Given the description of an element on the screen output the (x, y) to click on. 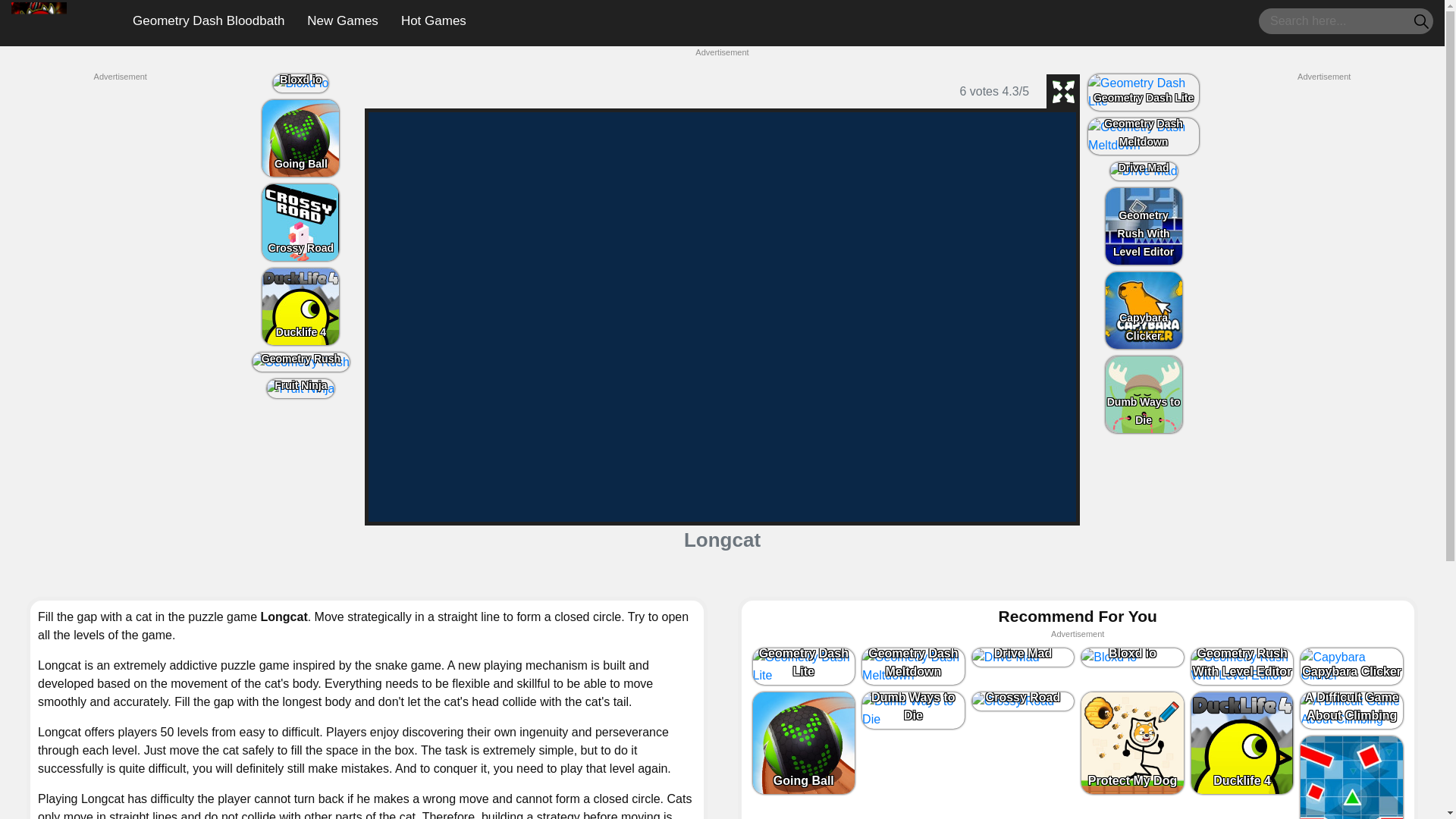
Geometry Rush With Level Editor (1242, 665)
Capybara Clicker (1351, 665)
Crossy Road (300, 222)
Geometry Dash Meltdown (1143, 135)
New Games (342, 20)
Geometry Dash Meltdown (913, 665)
Fruit Ninja (300, 388)
Dumb Ways to Die (1144, 394)
Bloxd io (1132, 656)
Going Ball (300, 137)
Geometry Dash Lite (1142, 92)
Geometry Rush With Level Editor (1144, 226)
Fruit Ninja (300, 389)
Geometry Dash Bloodbath (38, 21)
Going Ball (300, 137)
